Given the description of an element on the screen output the (x, y) to click on. 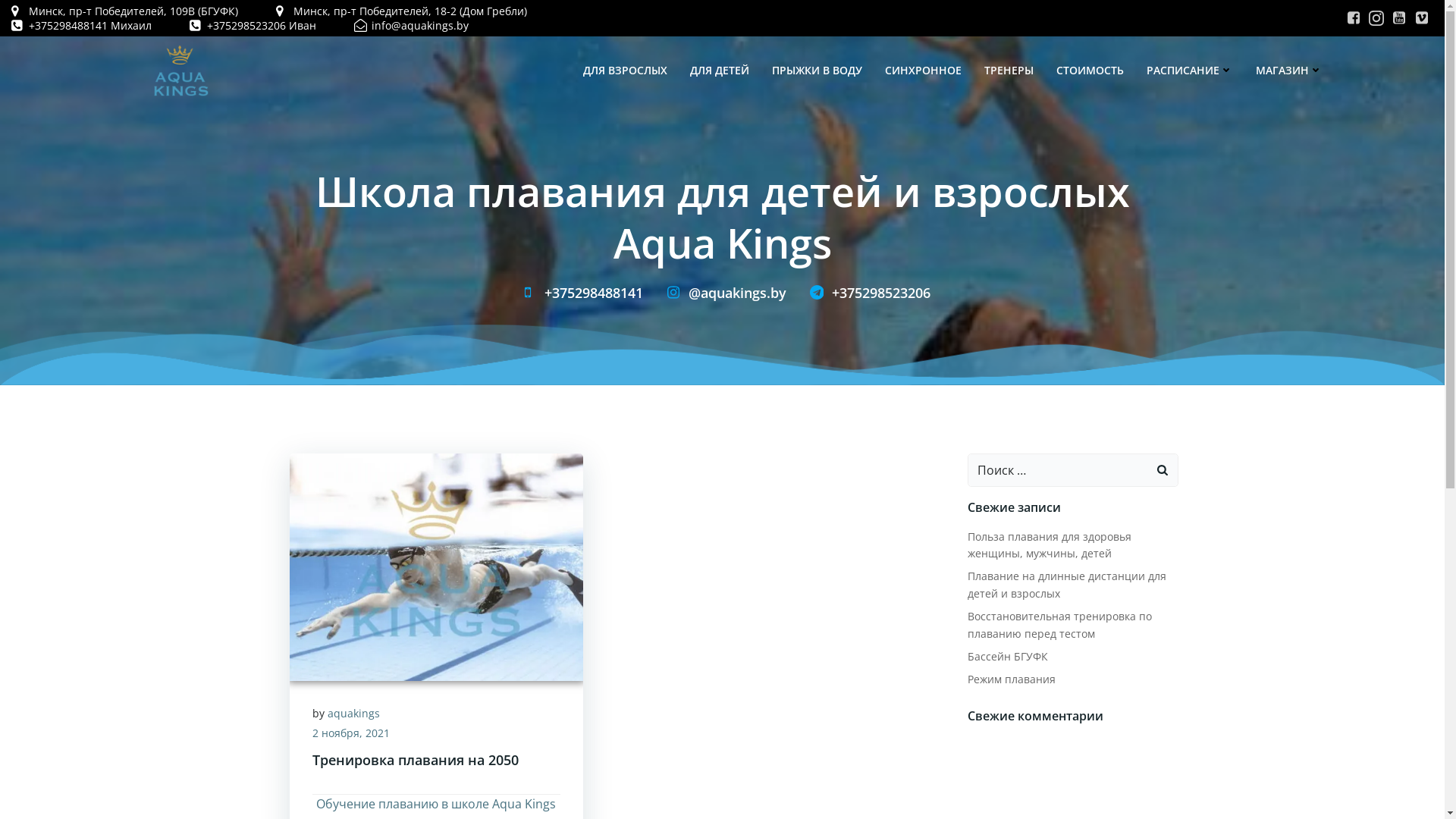
@aquakings.by Element type: text (722, 292)
+375298523206 Element type: text (865, 292)
info@aquakings.by Element type: text (411, 25)
+375298488141 Element type: text (578, 292)
aquakings Element type: text (353, 713)
Colibri Element type: text (938, 773)
